Given the description of an element on the screen output the (x, y) to click on. 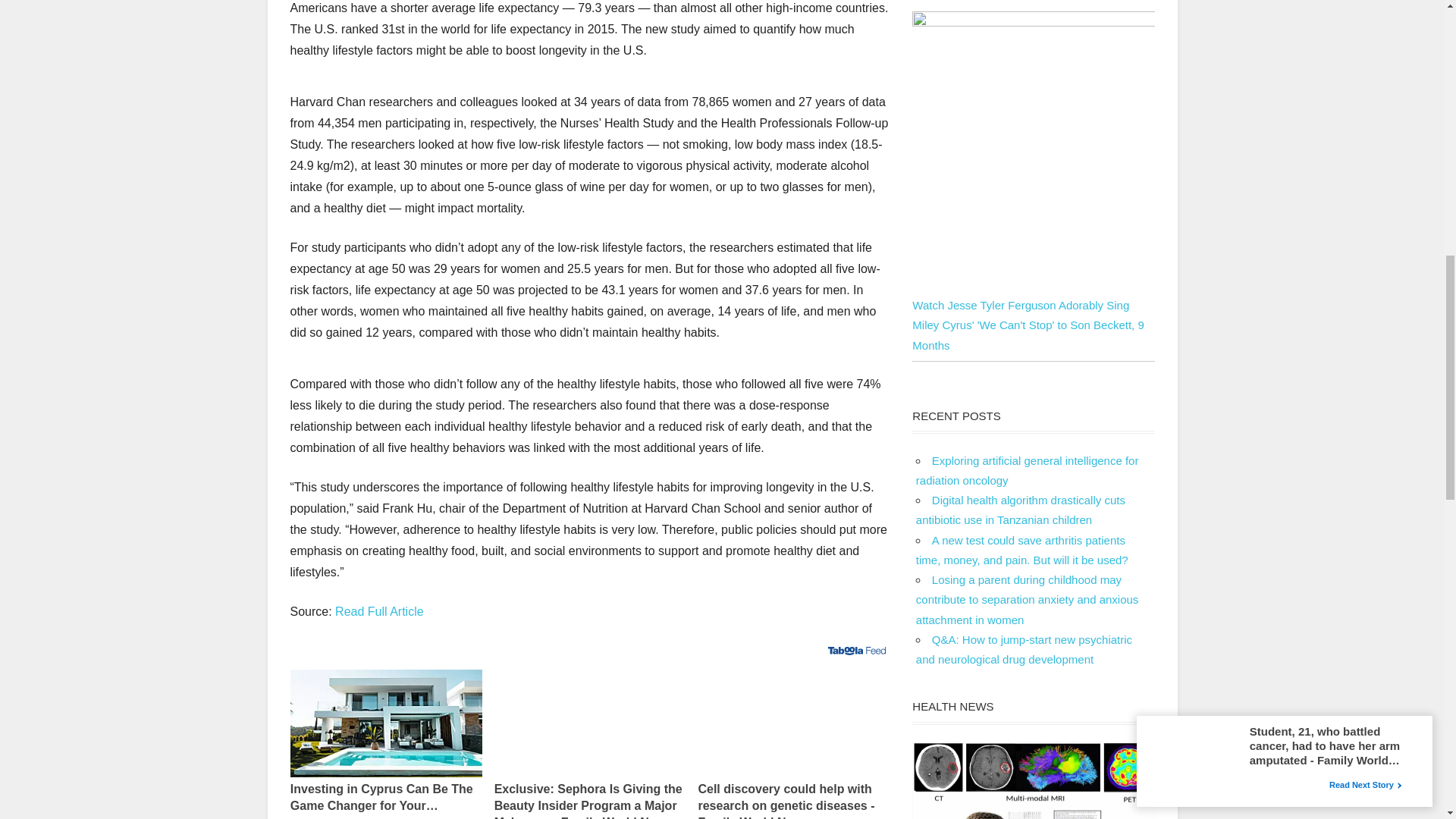
Read Full Article (378, 611)
